Given the description of an element on the screen output the (x, y) to click on. 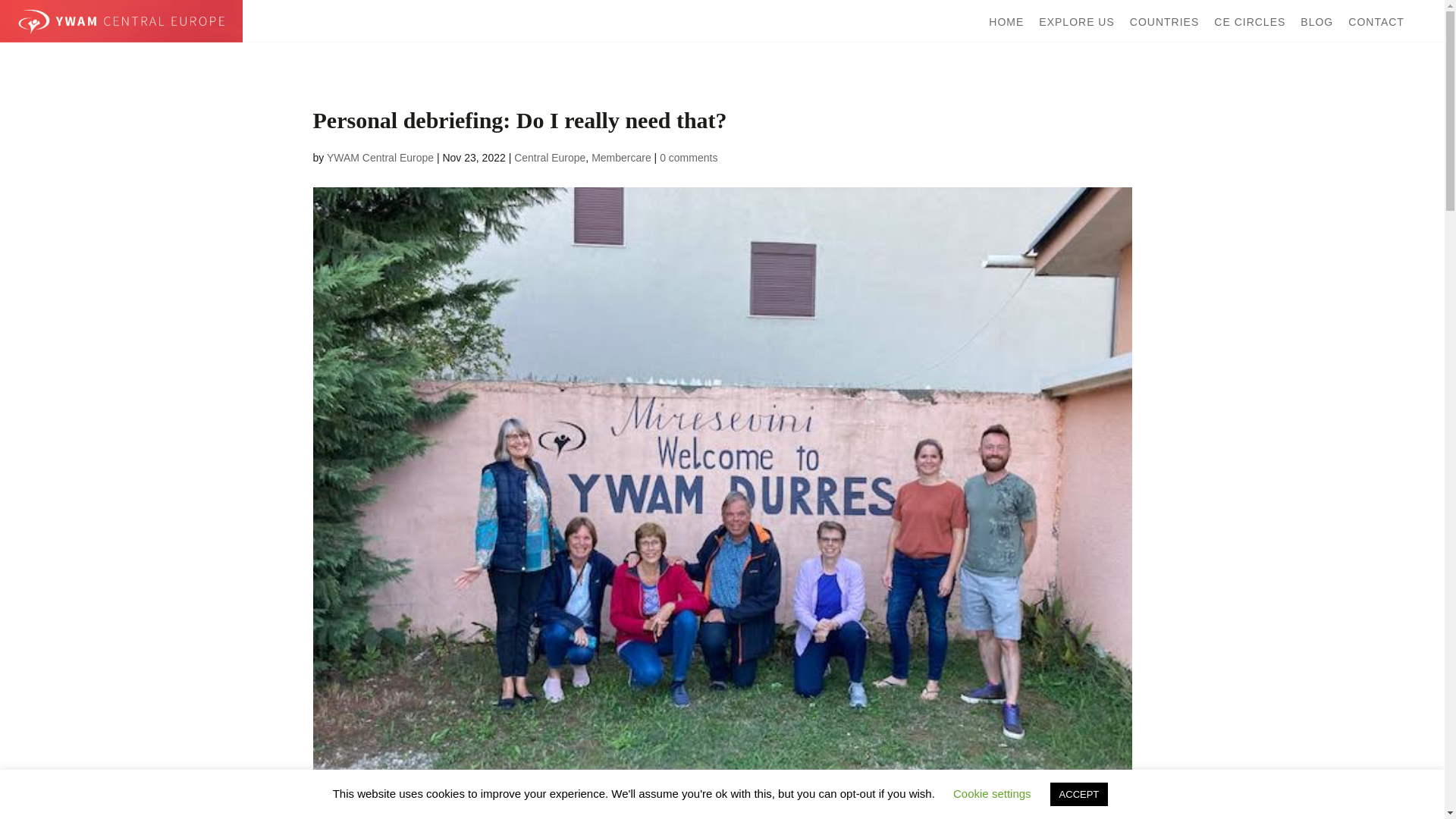
Posts by YWAM Central Europe (379, 157)
CONTACT (1376, 21)
CE CIRCLES (1249, 21)
COUNTRIES (1163, 21)
EXPLORE US (1076, 21)
